Given the description of an element on the screen output the (x, y) to click on. 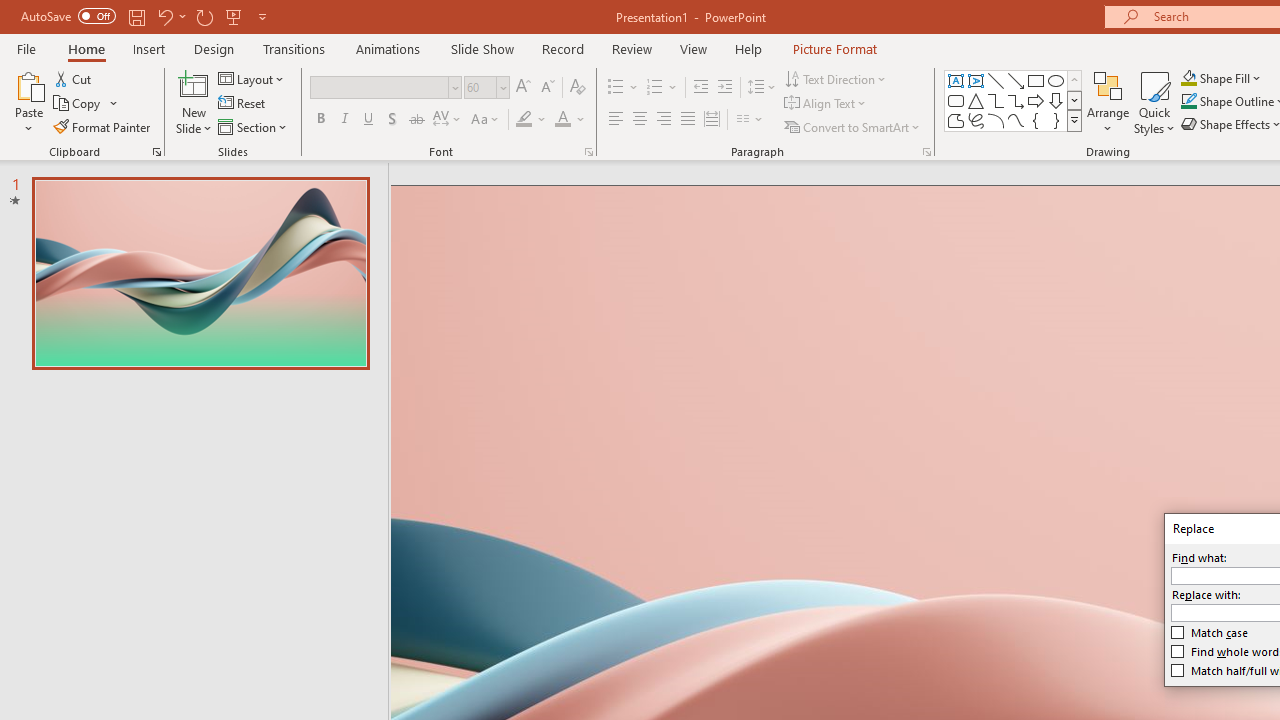
Match case (1210, 632)
